Given the description of an element on the screen output the (x, y) to click on. 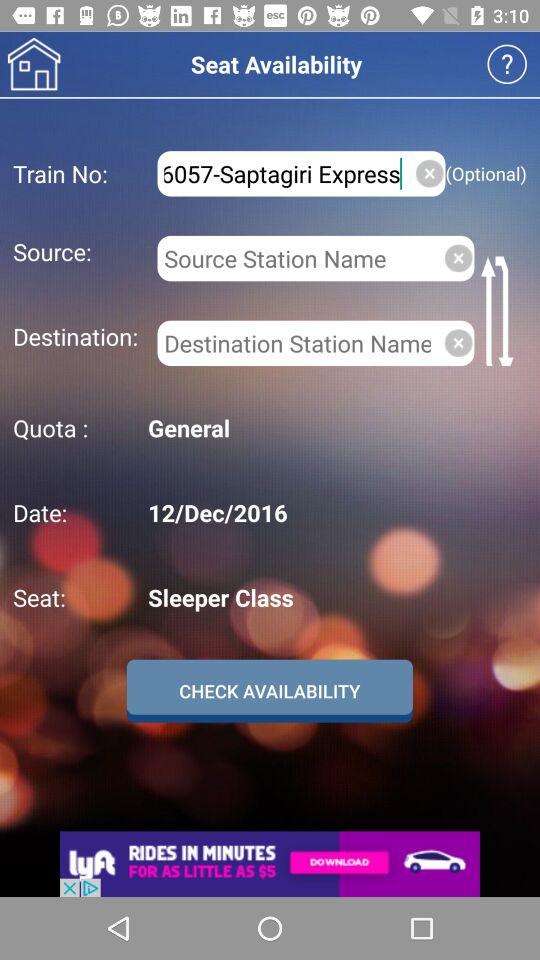
swipe until the 12/dec/2016 icon (333, 512)
